Given the description of an element on the screen output the (x, y) to click on. 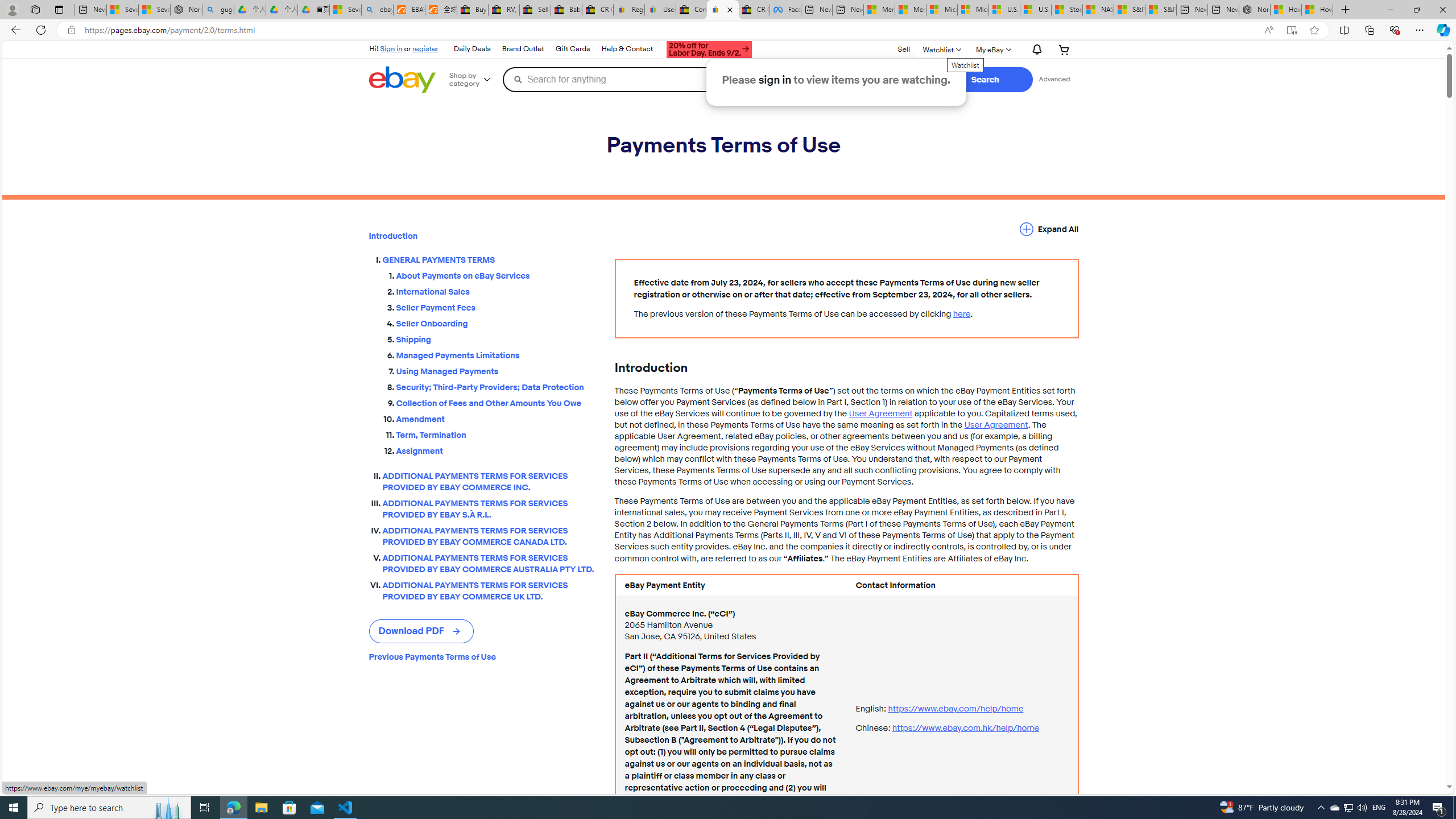
https://www.ebay.com/ help/home (955, 708)
Sell (903, 49)
eBay Home (401, 79)
AutomationID: gh-eb-Alerts (1035, 49)
